Given the description of an element on the screen output the (x, y) to click on. 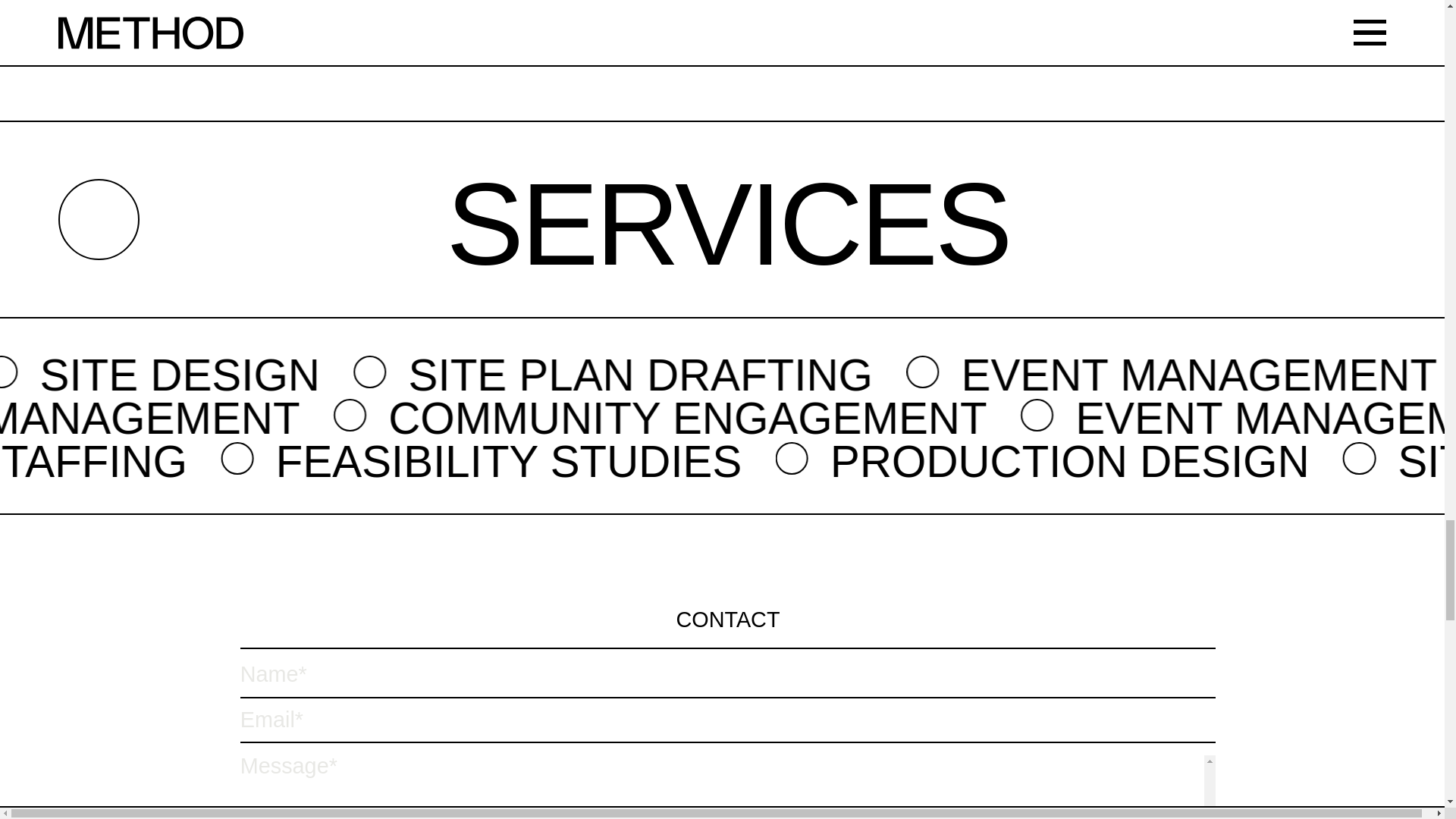
SITE PLAN DRAFTING (45, 374)
EVENT MANAGEMENT PLANS (453, 374)
PROCUREMENT (1032, 374)
